Given the description of an element on the screen output the (x, y) to click on. 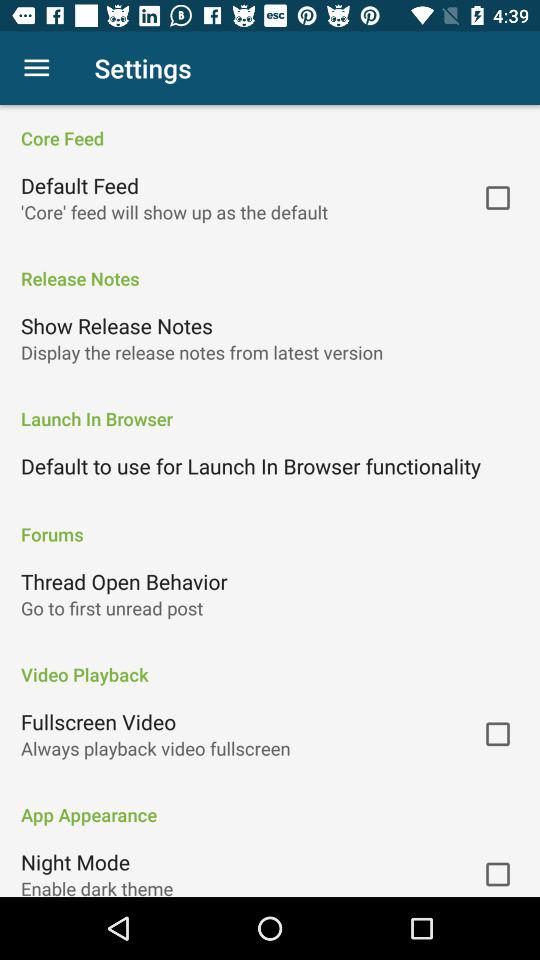
swipe until thread open behavior icon (124, 581)
